Given the description of an element on the screen output the (x, y) to click on. 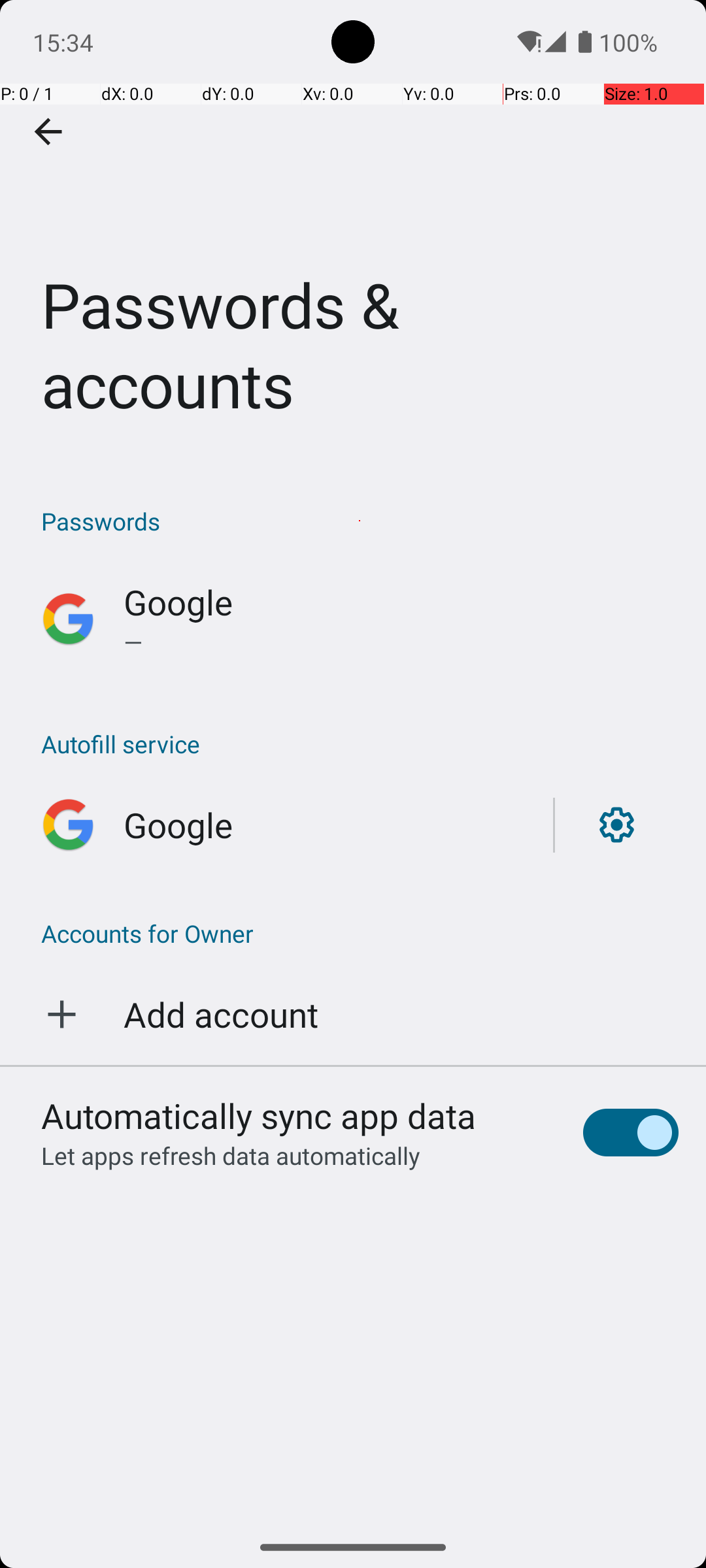
Passwords & accounts Element type: android.widget.FrameLayout (353, 231)
Accounts for Owner Element type: android.widget.LinearLayout (353, 932)
Passwords Element type: android.widget.TextView (359, 520)
— Element type: android.widget.TextView (400, 641)
Autofill service Element type: android.widget.TextView (359, 743)
Automatically sync app data Element type: android.widget.TextView (258, 1115)
Let apps refresh data automatically Element type: android.widget.TextView (230, 1155)
